Given the description of an element on the screen output the (x, y) to click on. 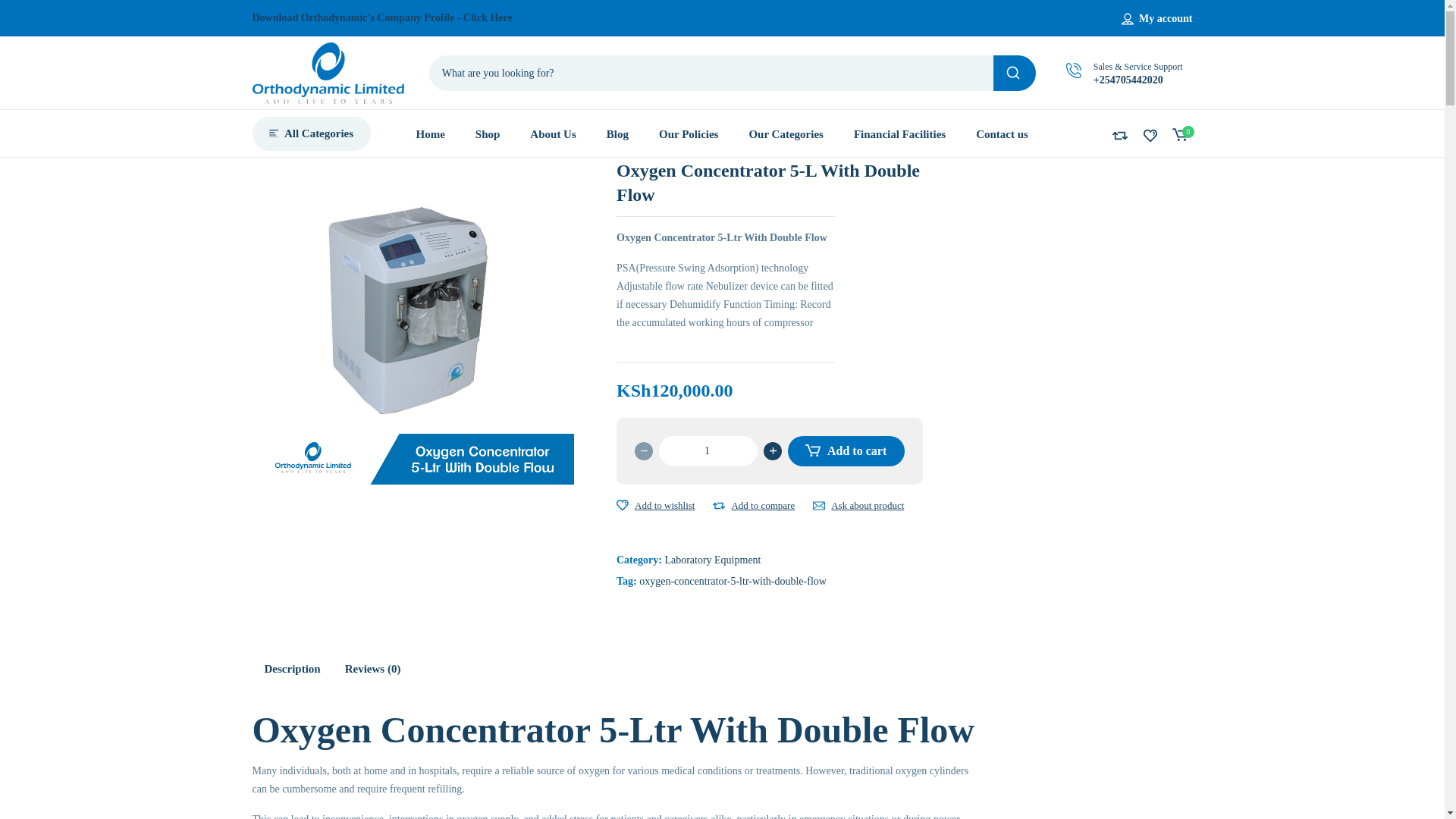
Add to wishlist (621, 505)
Add to cart (845, 450)
Log In (1055, 194)
Contact us (1001, 133)
Search (1013, 73)
Search (1013, 73)
Our Categories (785, 133)
Oxygen-Concentrator-5-Ltr-With-Double-Flow.jpeg (412, 321)
Compare (1118, 134)
Financial Facilities (898, 133)
- (643, 451)
About Us (552, 133)
Download Orthodynamic's Company Profile - Click Here (381, 17)
All Categories (310, 133)
Wishlist (1149, 134)
